Given the description of an element on the screen output the (x, y) to click on. 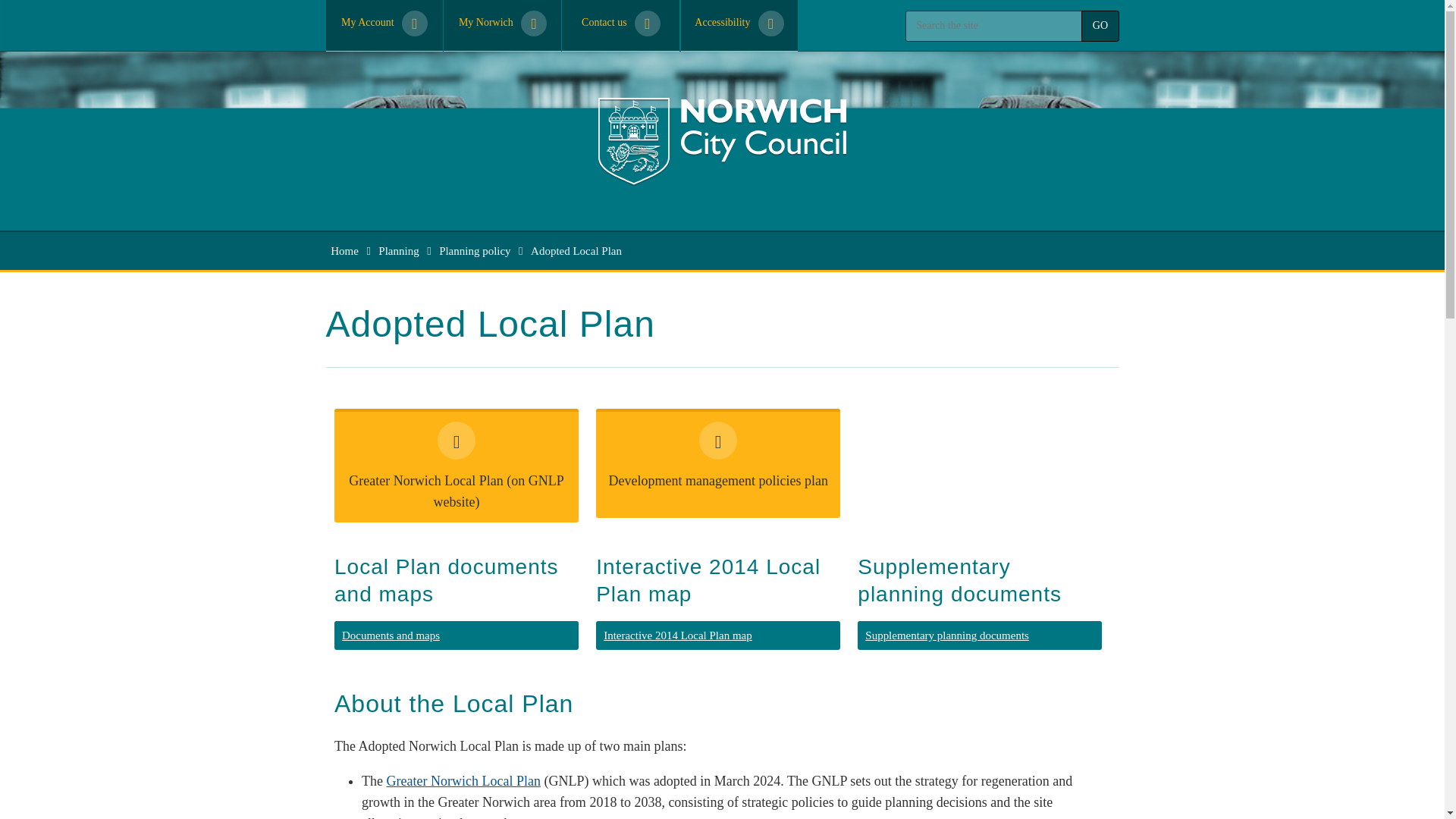
Interactive 2014 Local Plan map (717, 635)
Development management policies plan (717, 462)
Home (344, 250)
Planning policy (475, 250)
Documents and maps (456, 635)
My Account (385, 25)
Contact us (620, 25)
Supplementary planning documents (979, 635)
Accessibility (739, 25)
Planning (398, 250)
